Given the description of an element on the screen output the (x, y) to click on. 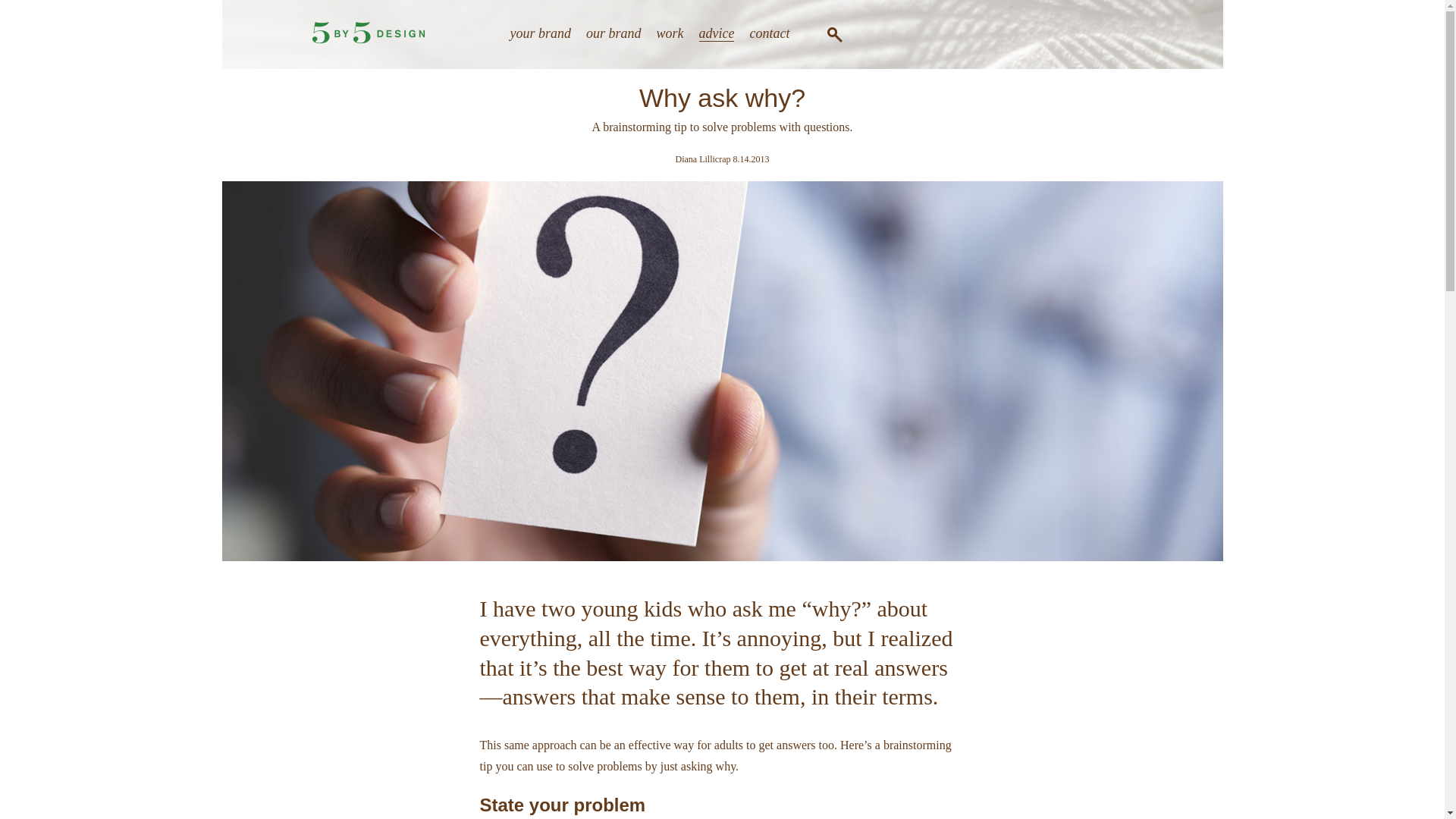
5 by 5 Design (369, 33)
work (670, 32)
advice (716, 33)
Send (891, 380)
contact (769, 32)
our brand (614, 32)
5 by 5 Design (369, 39)
your brand (539, 32)
